Given the description of an element on the screen output the (x, y) to click on. 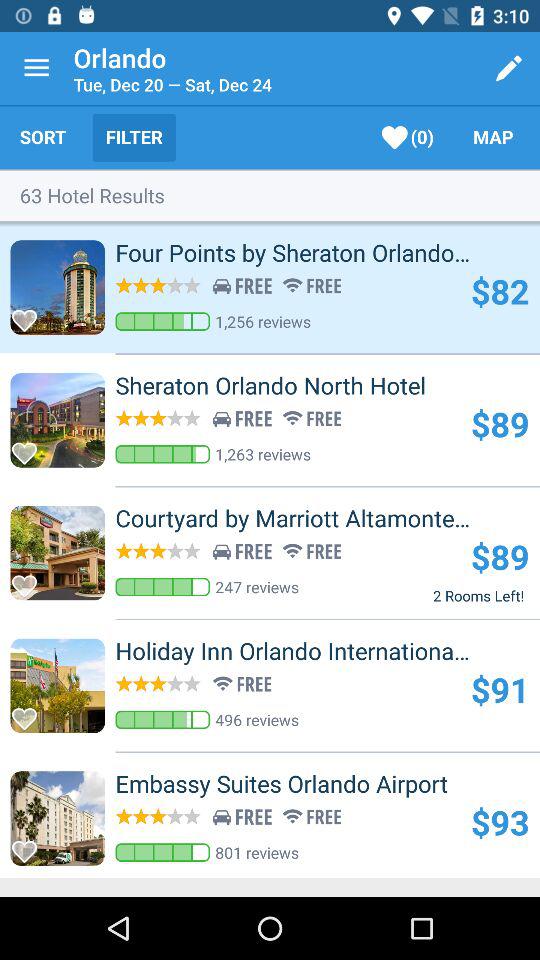
like as favourite button (30, 447)
